Given the description of an element on the screen output the (x, y) to click on. 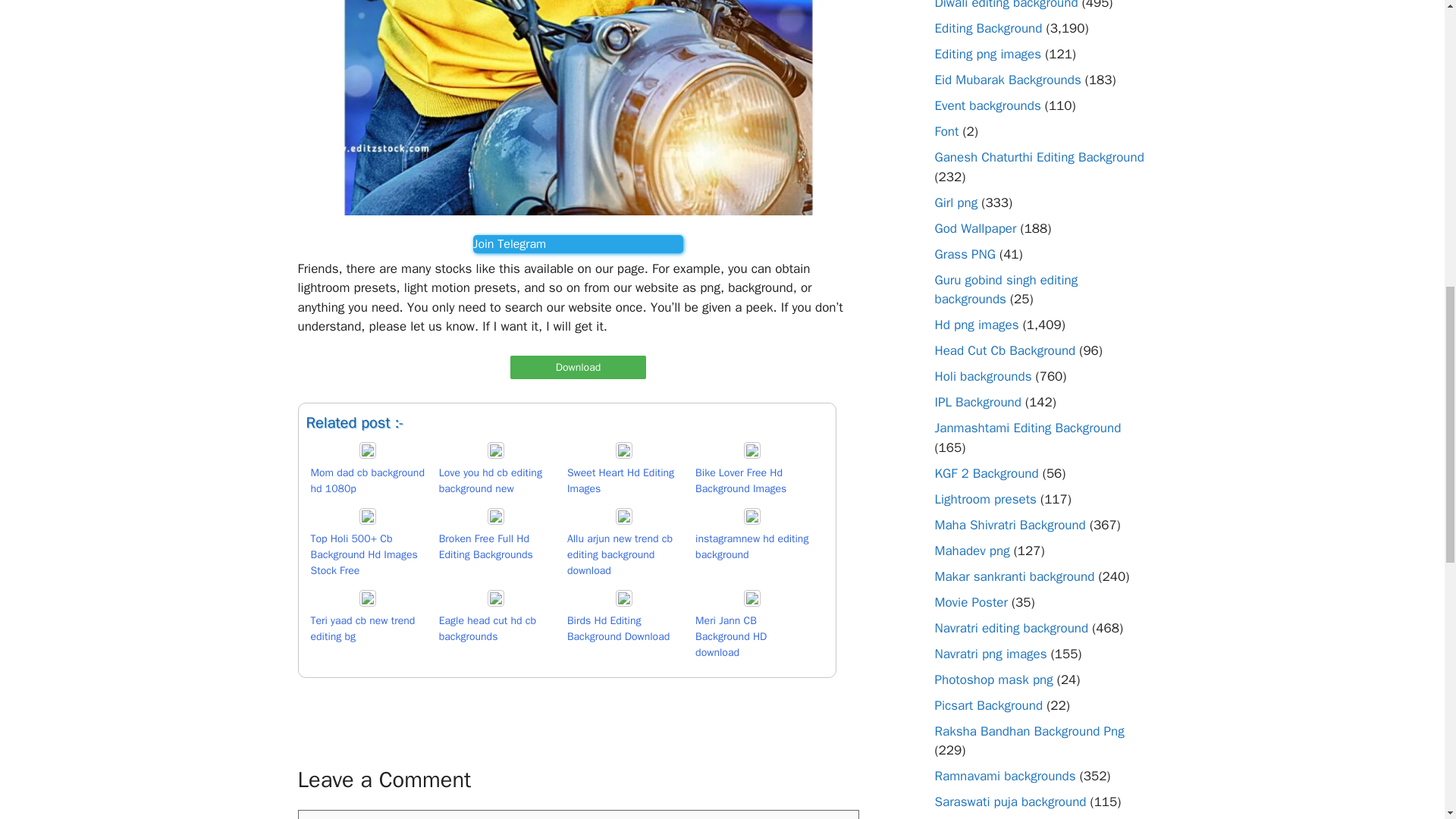
Join Telegram (577, 244)
Editz Stock (577, 244)
Download (578, 367)
Bike Lover Free Hd Background Images (566, 471)
instagramnew hd editing background (566, 546)
Meri Jann CB Background HD download (566, 628)
